Given the description of an element on the screen output the (x, y) to click on. 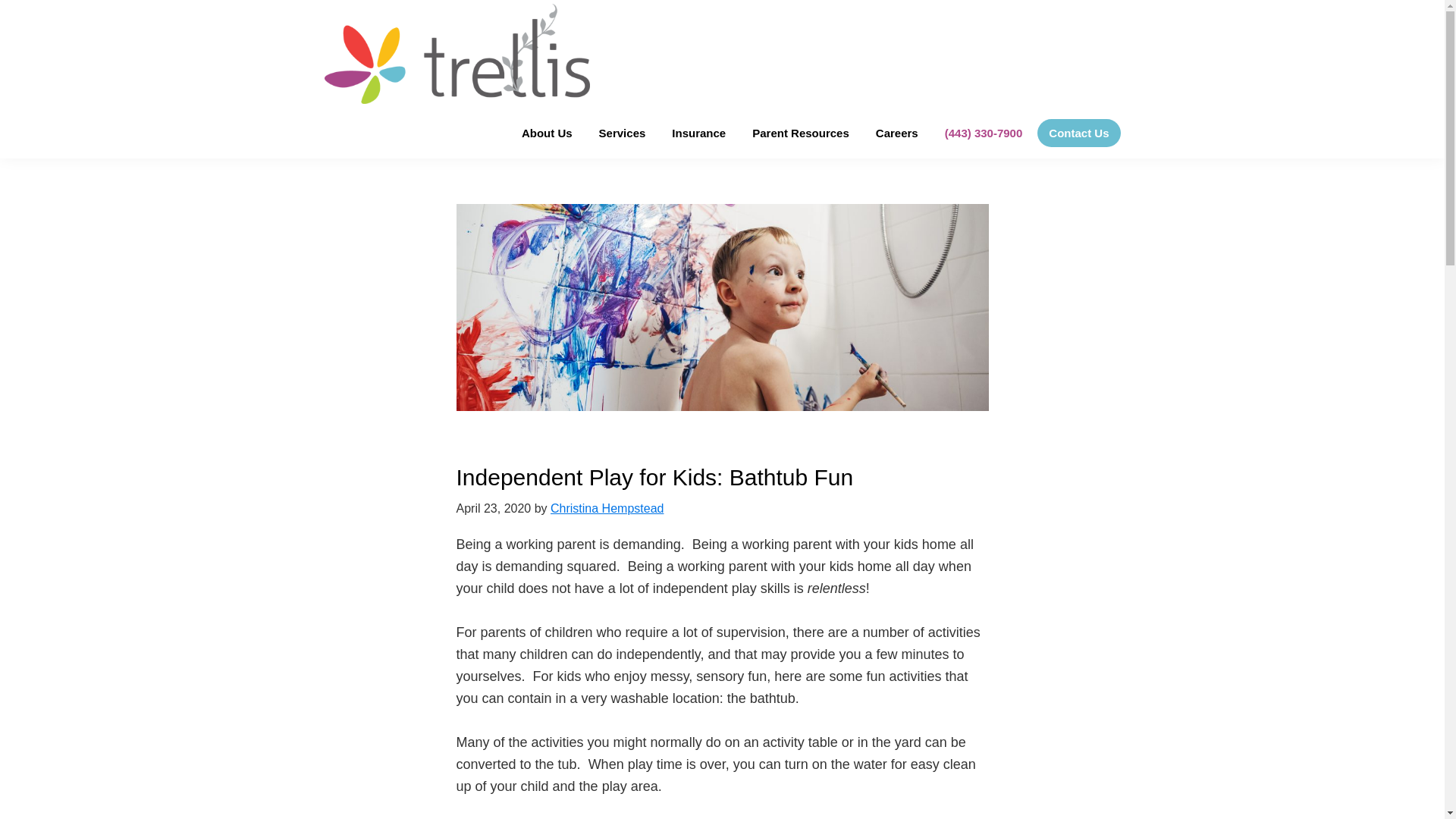
Contact Us (1077, 131)
Insurance (698, 131)
About Us (547, 131)
Parent Resources (800, 131)
Careers (897, 131)
Christina Hempstead (606, 508)
Services (623, 131)
